Given the description of an element on the screen output the (x, y) to click on. 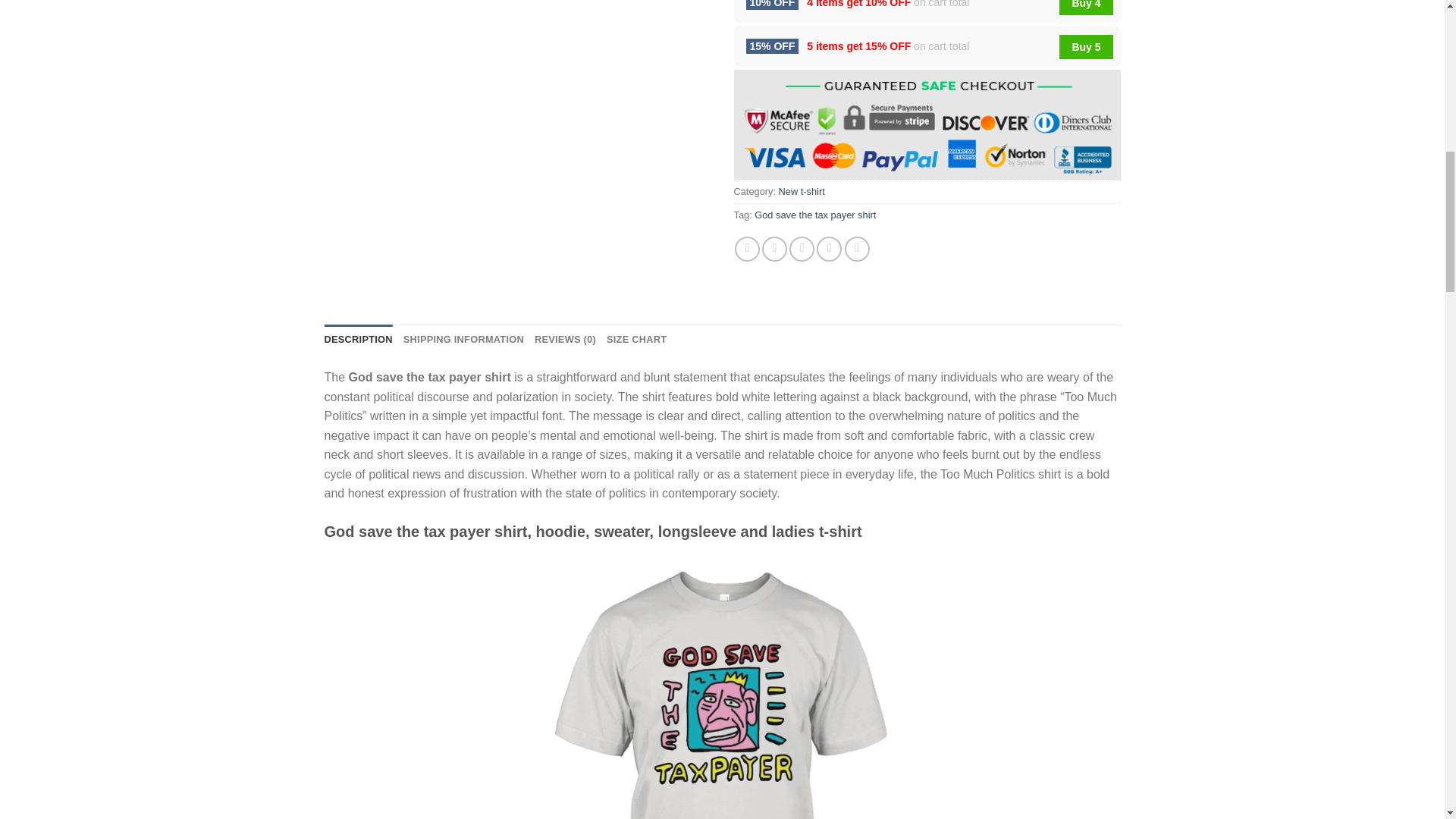
Share on LinkedIn (856, 248)
SHIPPING INFORMATION (463, 339)
Share on Twitter (774, 248)
New t-shirt (801, 191)
Email to a Friend (801, 248)
God save the tax payer shirt (815, 214)
Share on Facebook (747, 248)
DESCRIPTION (358, 339)
Pin on Pinterest (828, 248)
